Given the description of an element on the screen output the (x, y) to click on. 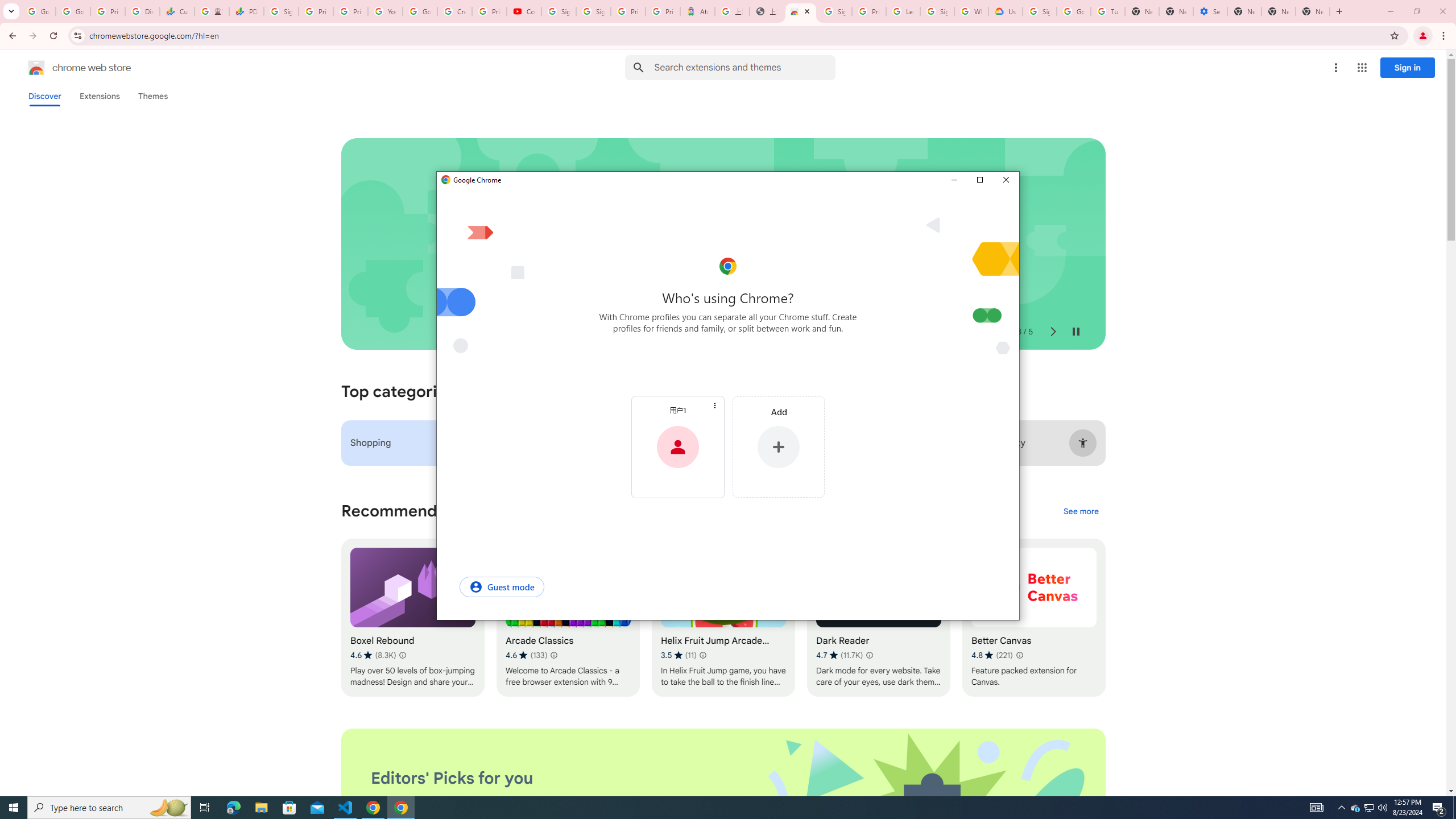
Microsoft Edge (233, 807)
Start (13, 807)
Search highlights icon opens search home window (167, 807)
Learn more about results and reviews "Dark Reader" (869, 655)
Privacy Checkup (349, 11)
Sign in - Google Accounts (557, 11)
Sign in - Google Accounts (937, 11)
Microsoft Store (289, 807)
Google Account Help (419, 11)
